Given the description of an element on the screen output the (x, y) to click on. 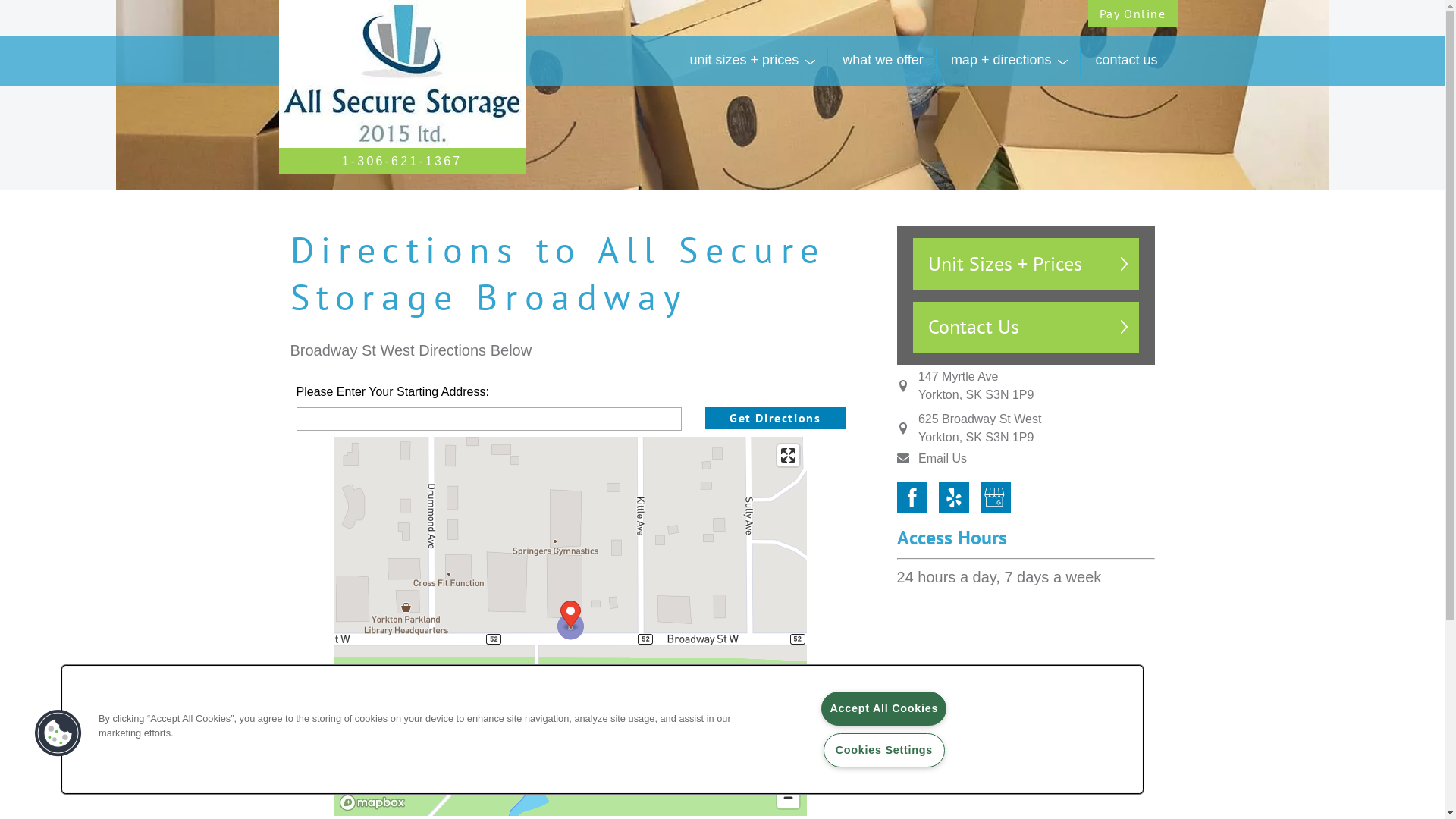
147 Myrtle Ave
Yorkton, SK S3N 1P9 Element type: text (975, 385)
625 Broadway St West
Yorkton, SK S3N 1P9 Element type: text (979, 428)
Zoom in Element type: hover (788, 775)
map + directions Element type: text (1009, 59)
contact us Element type: text (1125, 59)
Accept All Cookies Element type: text (883, 708)
Cookies Button Element type: text (58, 733)
Contact Us Element type: text (1026, 327)
Unit Sizes + Prices Element type: text (1026, 263)
Email Us Element type: text (942, 457)
what we offer Element type: text (882, 59)
unit sizes + prices Element type: text (752, 59)
Zoom out Element type: hover (788, 797)
1-306-621-1367 Element type: text (402, 160)
Pay Online Element type: text (1131, 13)
Google My Business Element type: hover (994, 497)
Get Directions Element type: text (774, 418)
Facebook Element type: hover (911, 497)
Yelp Element type: hover (953, 497)
Cookies Settings Element type: text (883, 750)
Enter fullscreen Element type: hover (788, 455)
